Given the description of an element on the screen output the (x, y) to click on. 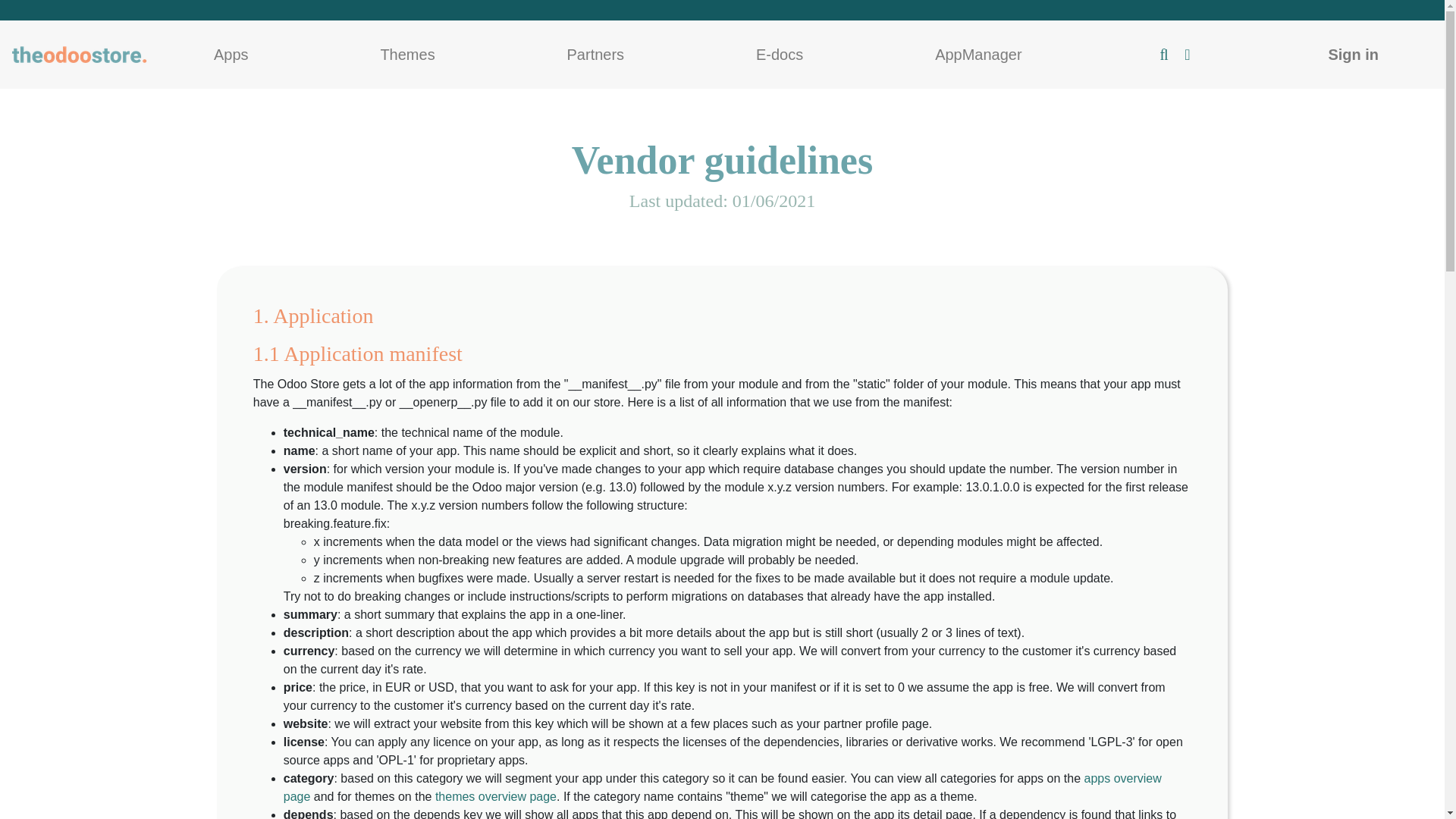
themes overview page (495, 796)
Themes (407, 54)
Sign in (1353, 54)
Partners (595, 54)
E-docs (779, 54)
The Odoo Store (79, 54)
Apps (231, 54)
apps overview page (722, 787)
AppManager (978, 54)
